Given the description of an element on the screen output the (x, y) to click on. 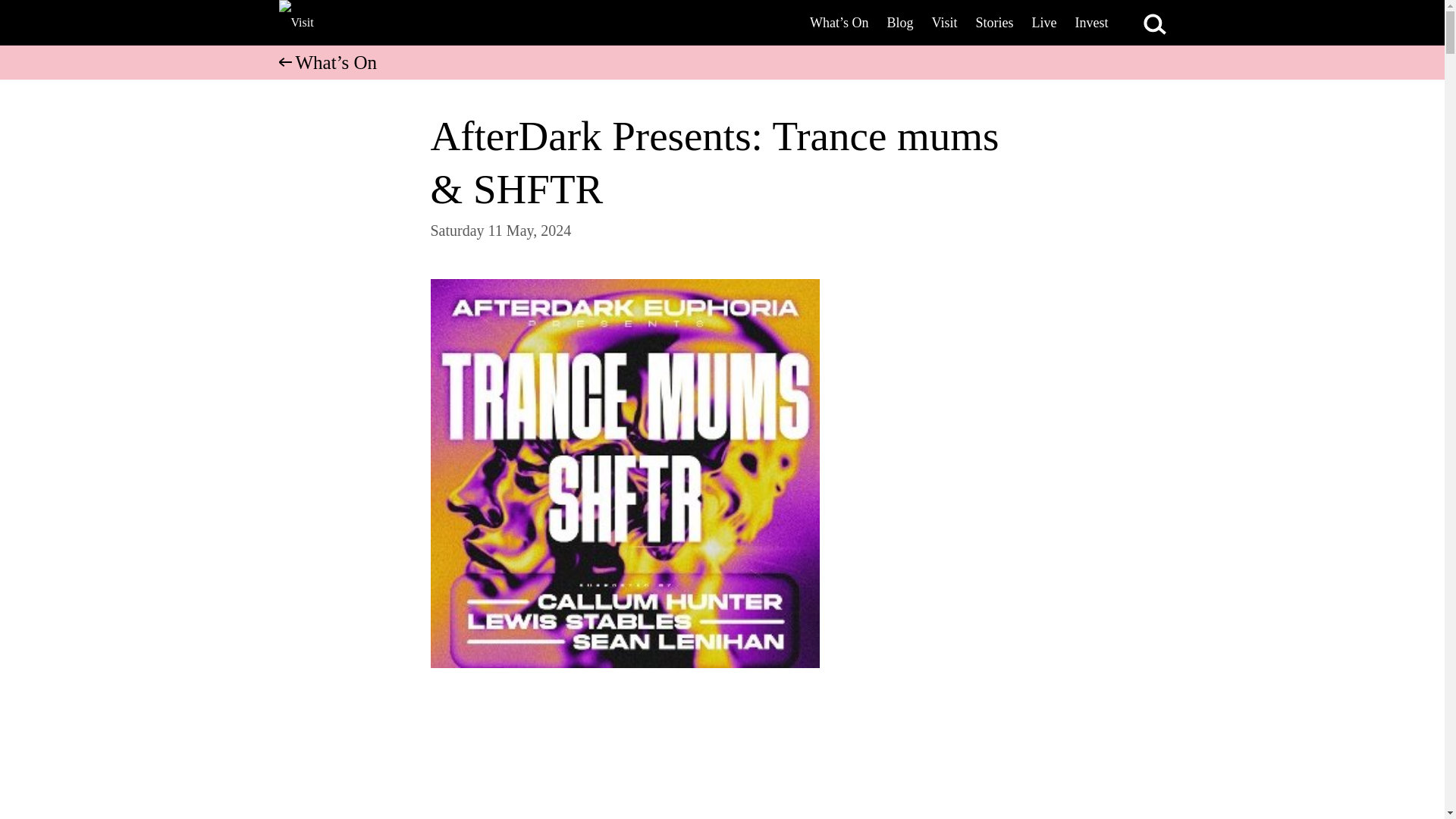
Live (1043, 22)
Invest (1091, 22)
Stories (994, 22)
Visit (944, 22)
Blog (900, 22)
